Given the description of an element on the screen output the (x, y) to click on. 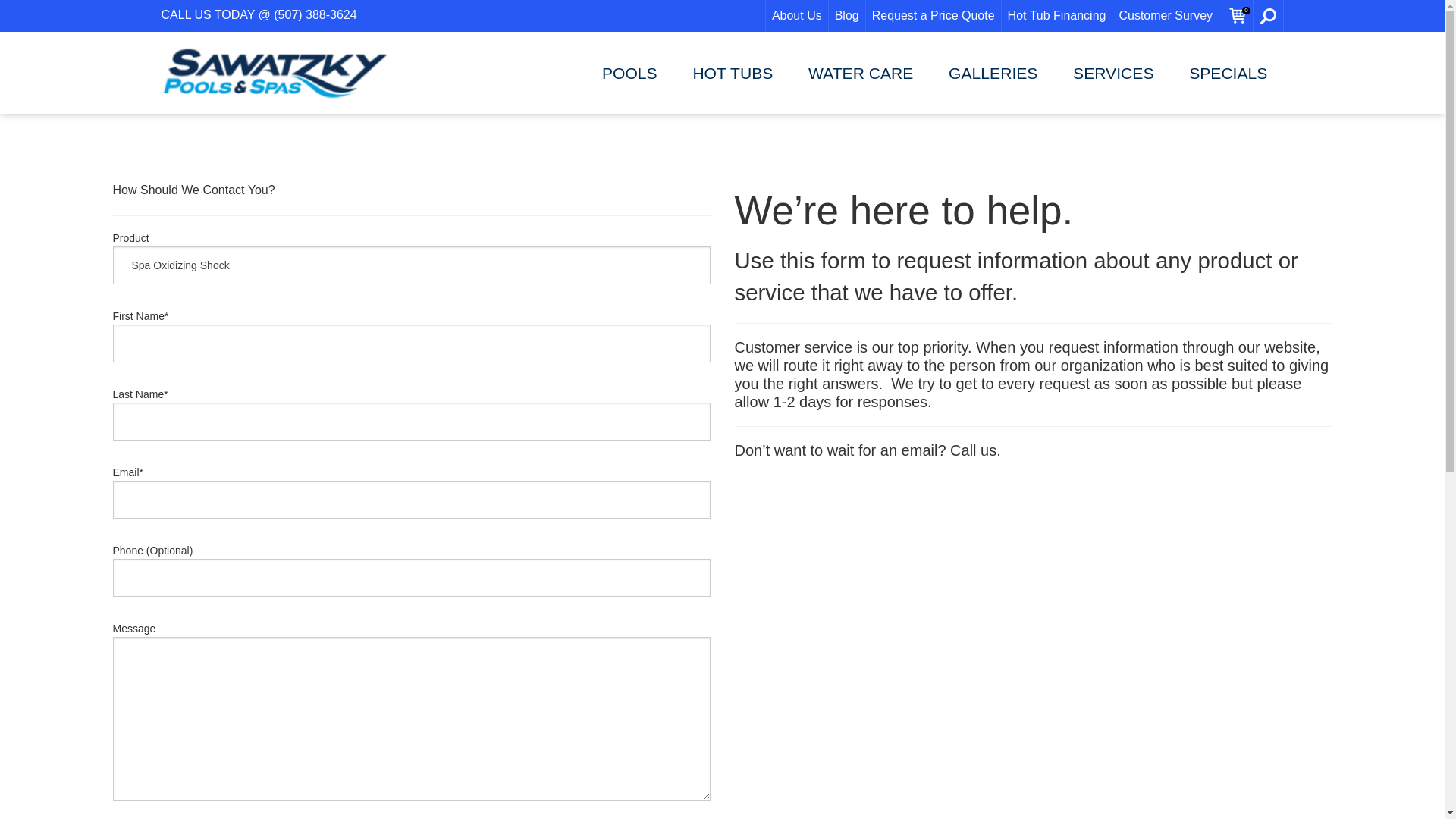
Spa Oxidizing Shock (411, 265)
Cart (1237, 15)
